Given the description of an element on the screen output the (x, y) to click on. 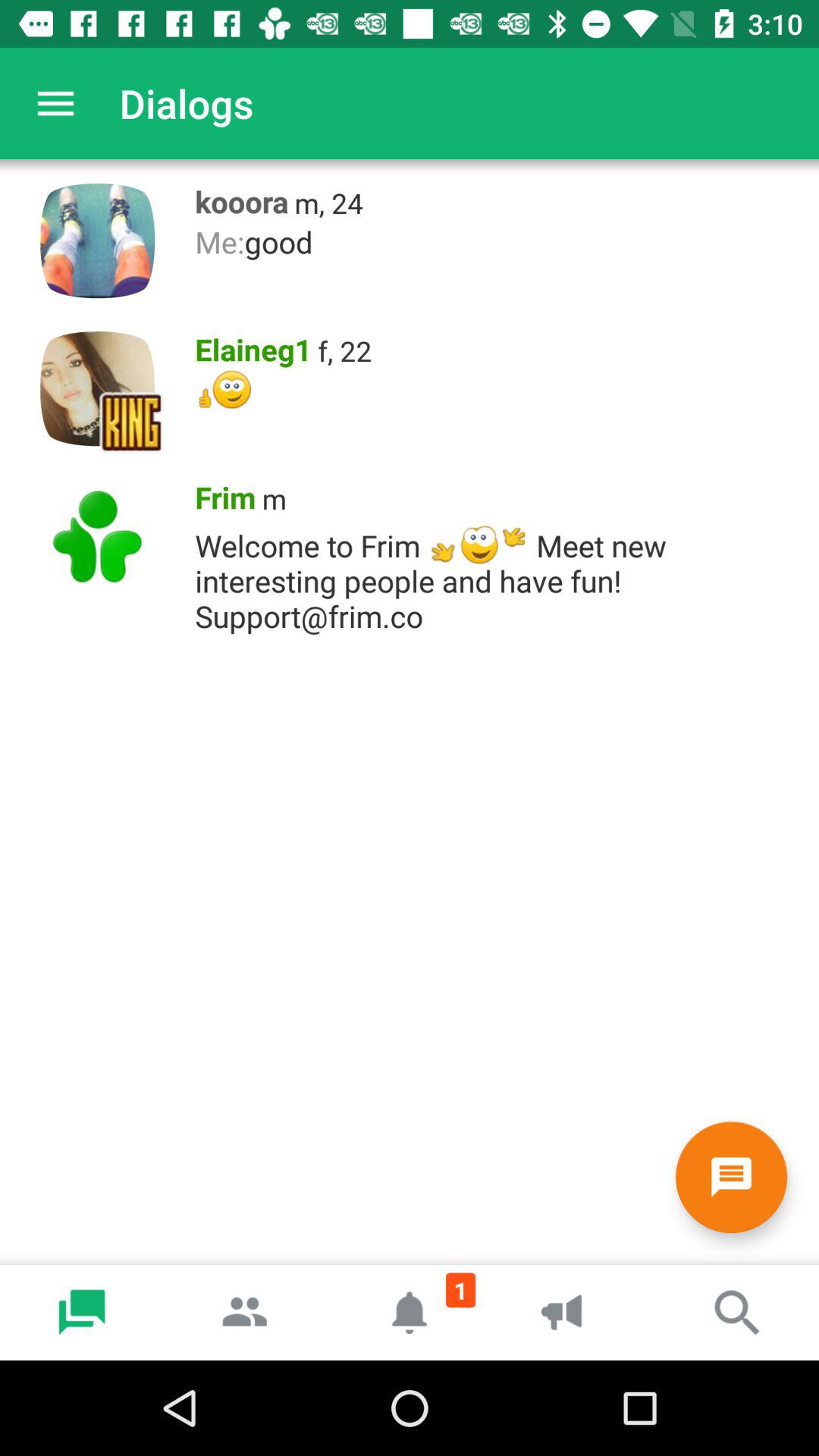
scroll to me:good icon (499, 241)
